Given the description of an element on the screen output the (x, y) to click on. 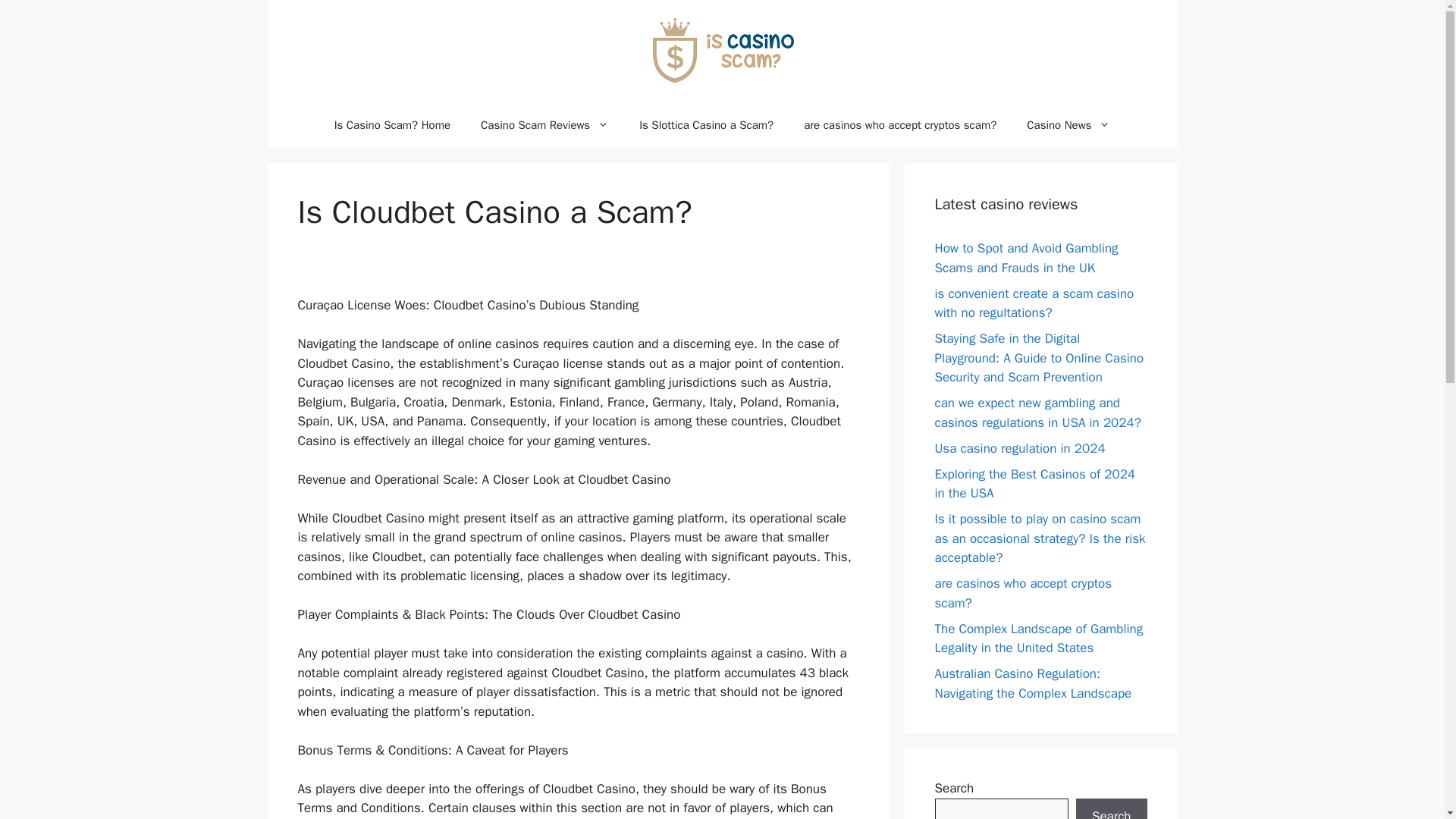
are casinos who accept cryptos scam? (900, 125)
Is Slottica Casino a Scam? (706, 125)
Casino News (1068, 125)
Exploring the Best Casinos of 2024 in the USA (1034, 483)
is convenient create a scam casino with no regultations? (1034, 303)
Usa casino regulation in 2024 (1019, 447)
Casino Scam Reviews (544, 125)
Is Casino Scam? Home (391, 125)
How to Spot and Avoid Gambling Scams and Frauds in the UK (1026, 258)
are casinos who accept cryptos scam? (1023, 592)
